Given the description of an element on the screen output the (x, y) to click on. 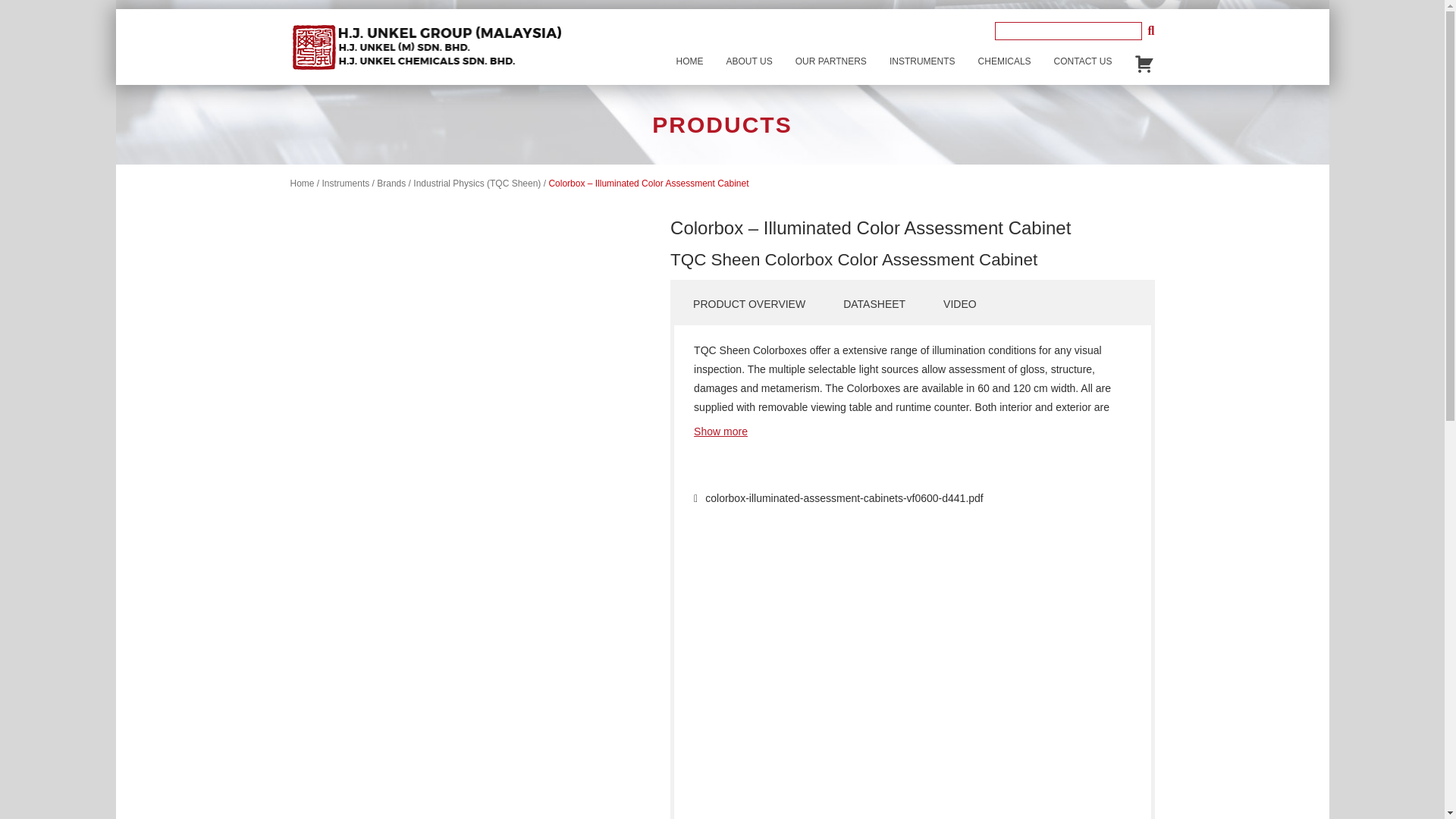
CONTACT US (1083, 61)
Our Partners (830, 61)
Home (301, 183)
CHEMICALS (1004, 61)
Instruments (345, 183)
INSTRUMENTS (921, 61)
Show more (721, 431)
About Us (749, 61)
Go to HJ Unkel. (301, 183)
Home (689, 61)
